Given the description of an element on the screen output the (x, y) to click on. 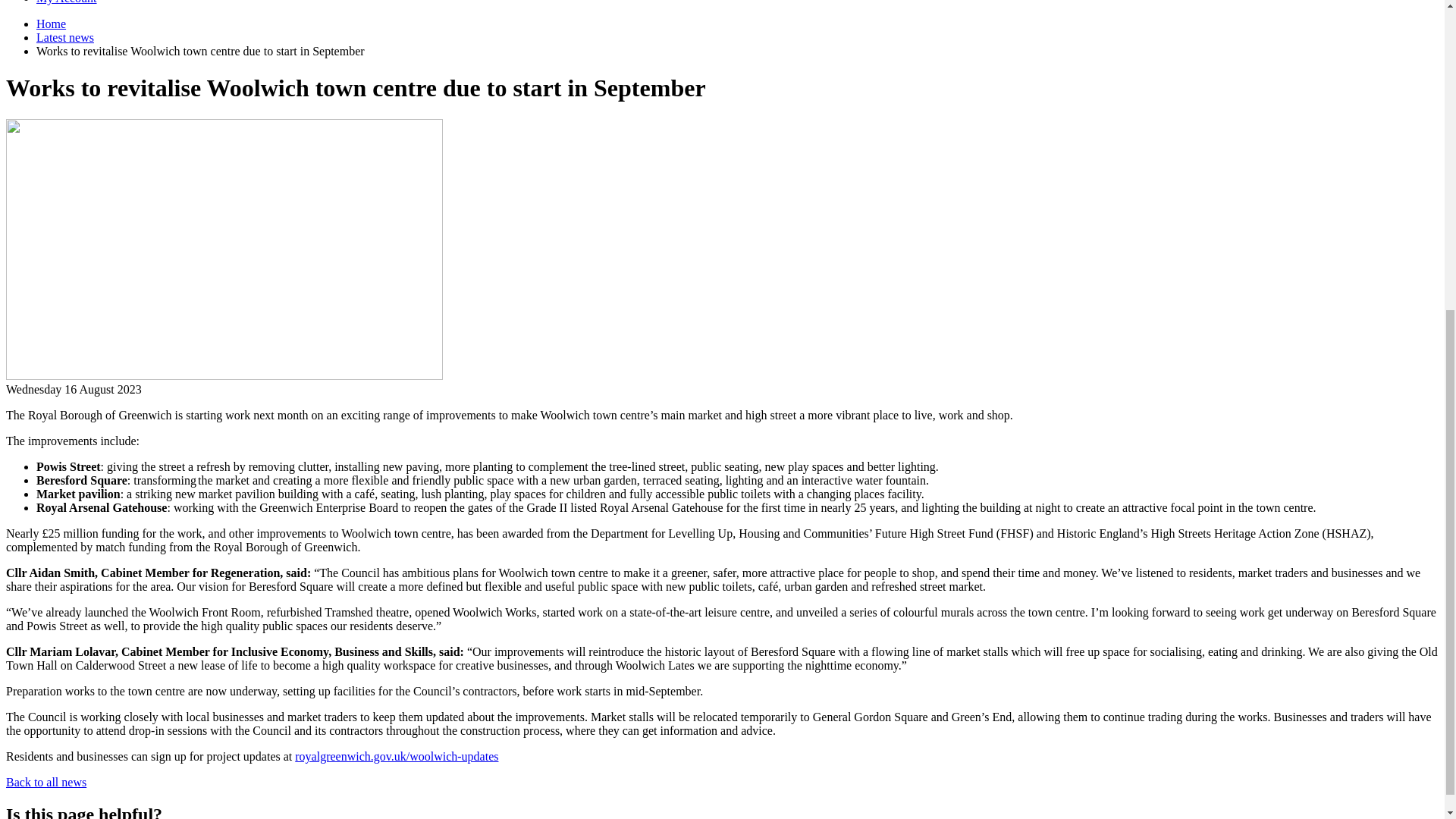
Back to all news (45, 781)
Latest news (65, 37)
My Account (66, 2)
Home (50, 23)
